Given the description of an element on the screen output the (x, y) to click on. 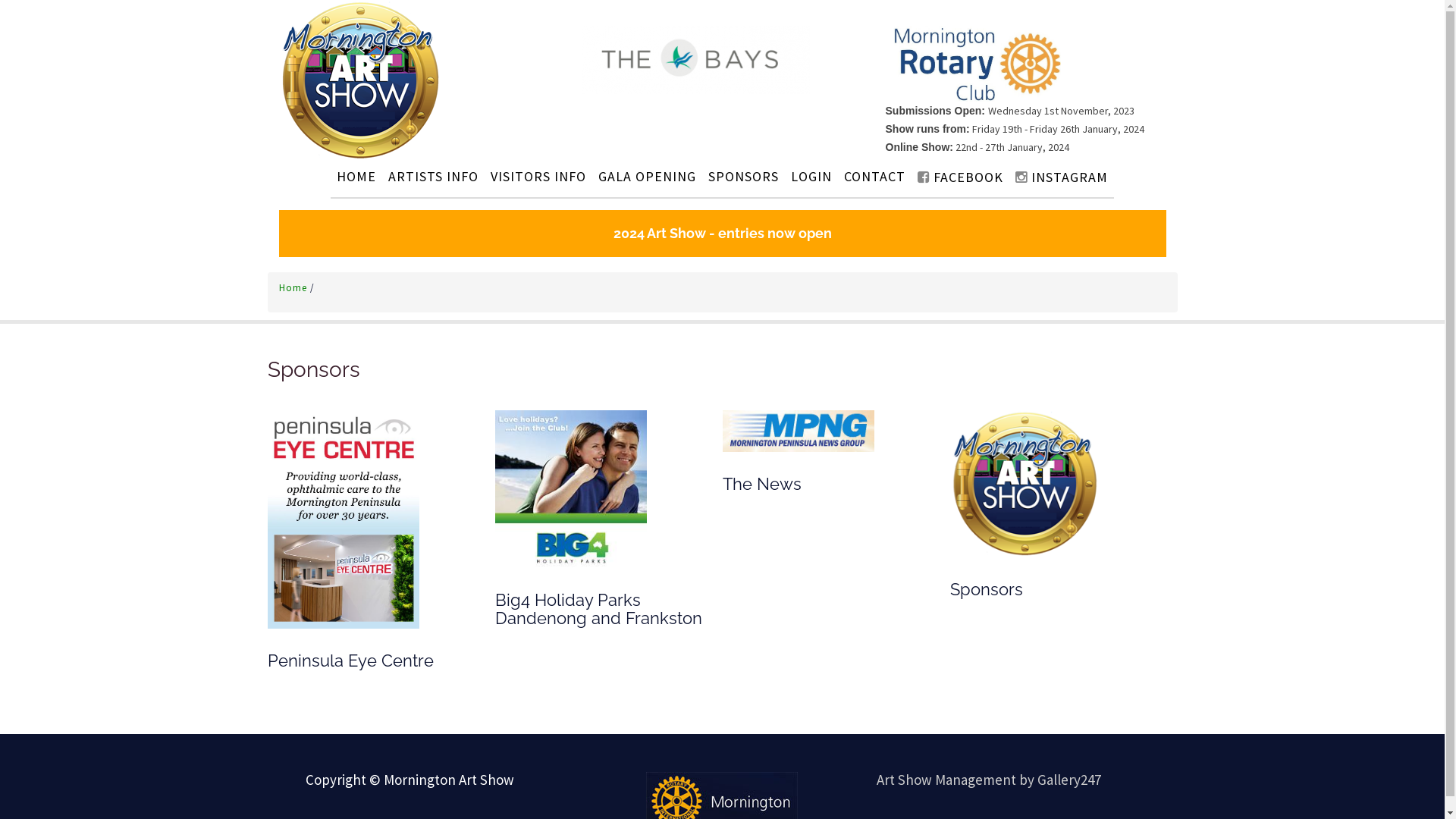
Art Show Management by Gallery247 Element type: text (988, 779)
SPONSORS Element type: text (743, 176)
Home Element type: text (294, 287)
Big4 Holiday Parks Dandenong and Frankston Element type: hover (570, 488)
Sponsors Element type: hover (1025, 482)
Sponsors Element type: text (312, 369)
FACEBOOK Element type: text (960, 177)
CONTACT Element type: text (874, 176)
HOME Element type: text (355, 176)
INSTAGRAM Element type: text (1061, 177)
LOGIN Element type: text (811, 176)
VISITORS INFO Element type: text (537, 176)
The News Element type: hover (797, 429)
ARTISTS INFO Element type: text (433, 176)
GALA OPENING Element type: text (646, 176)
2024 Art Show - entries now open Element type: text (722, 233)
Peninsula Eye Centre Element type: hover (342, 518)
